Given the description of an element on the screen output the (x, y) to click on. 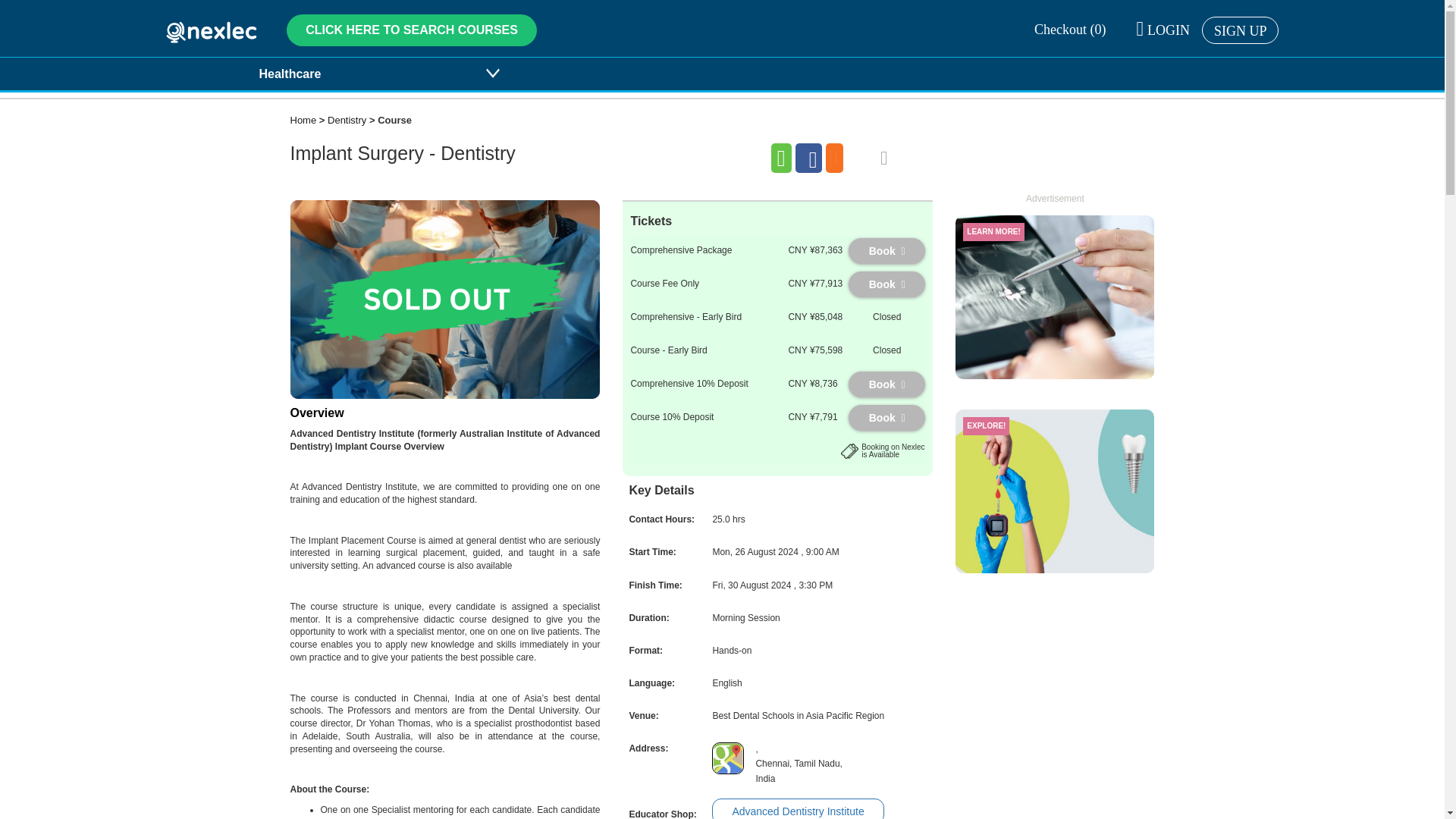
Healthcare (371, 73)
Healthcare (371, 73)
SIGN UP (1240, 30)
CLICK HERE TO SEARCH COURSES (411, 29)
Advertisement (1054, 285)
 LOGIN (1163, 29)
